Given the description of an element on the screen output the (x, y) to click on. 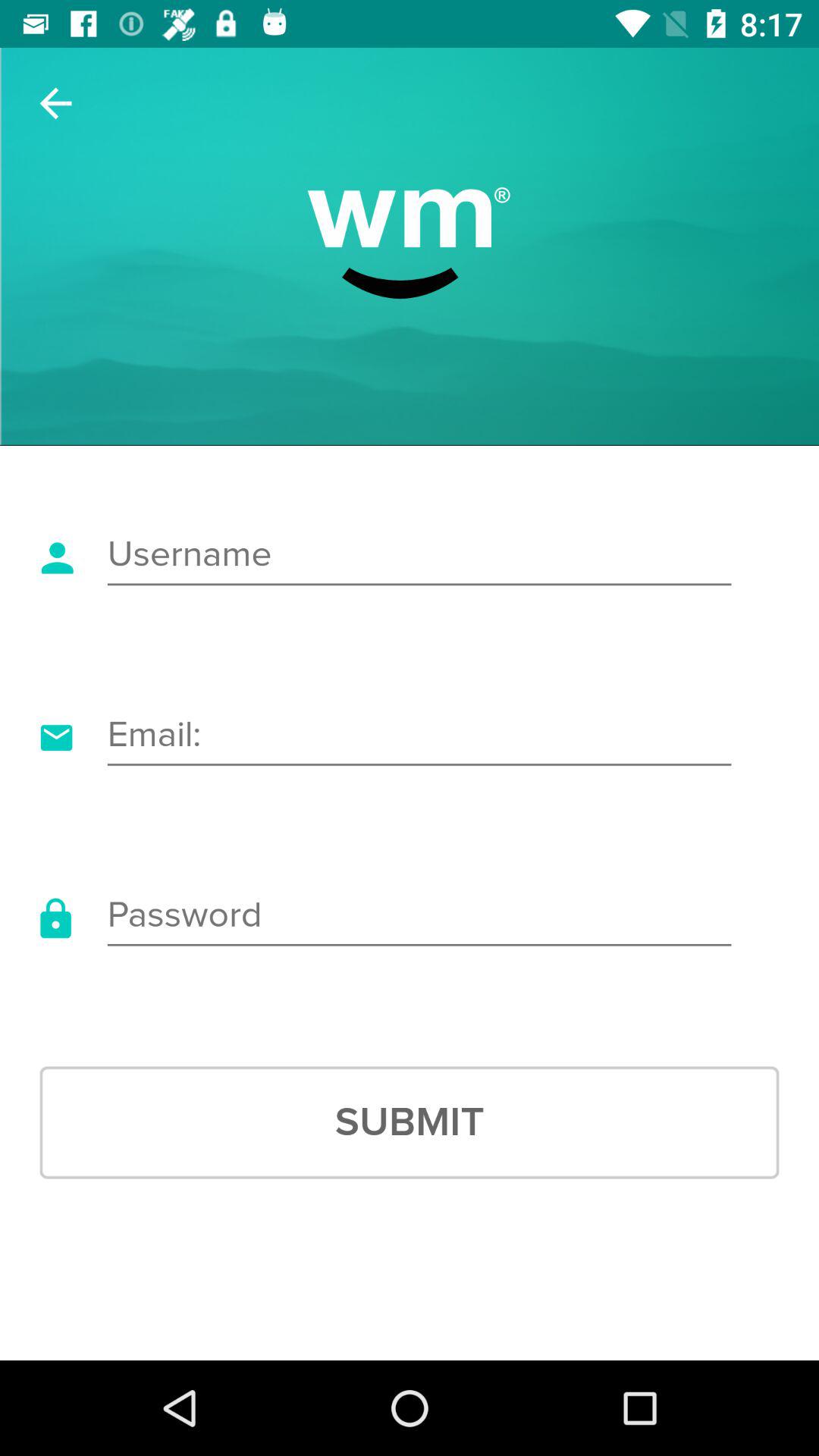
flip until the submit icon (409, 1122)
